Given the description of an element on the screen output the (x, y) to click on. 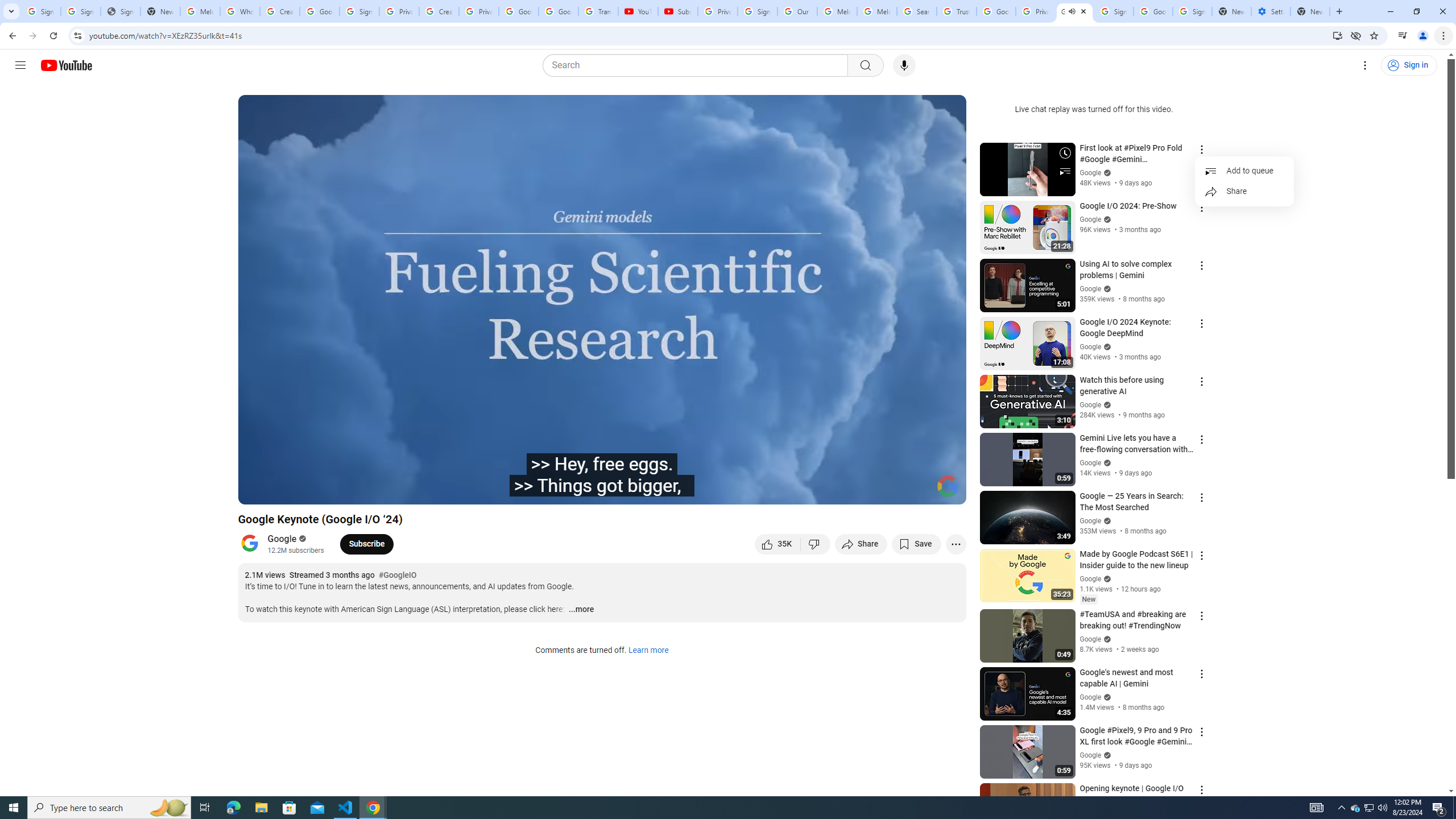
...more (580, 609)
Subtitles/closed captions unavailable (836, 490)
Trusted Information and Content - Google Safety Center (956, 11)
Opening Film (408, 490)
Add to queue (1243, 171)
Sign In - USA TODAY (120, 11)
Subscribe to Google. (366, 543)
